Given the description of an element on the screen output the (x, y) to click on. 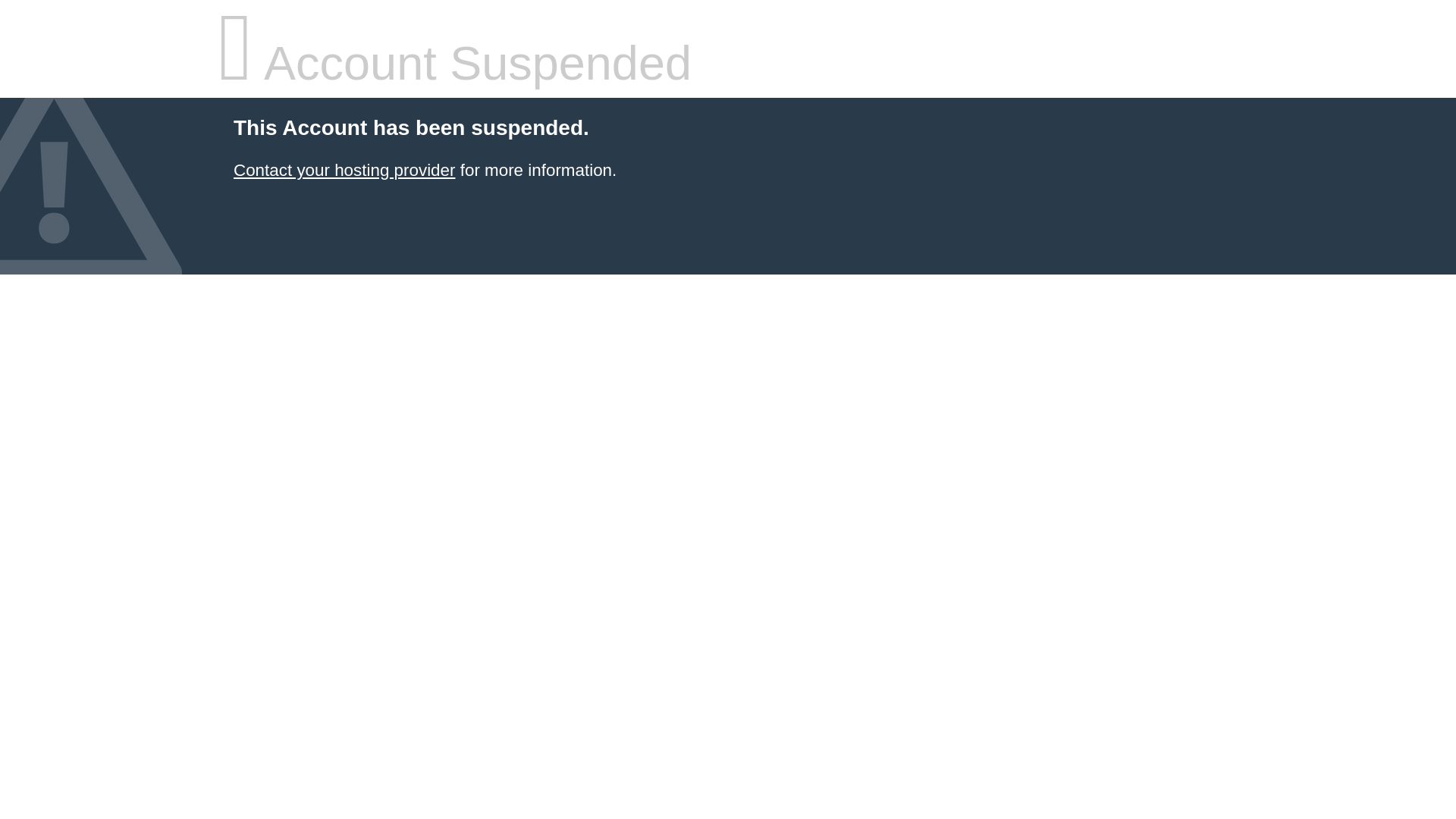
Contact your hosting provider (343, 169)
